Given the description of an element on the screen output the (x, y) to click on. 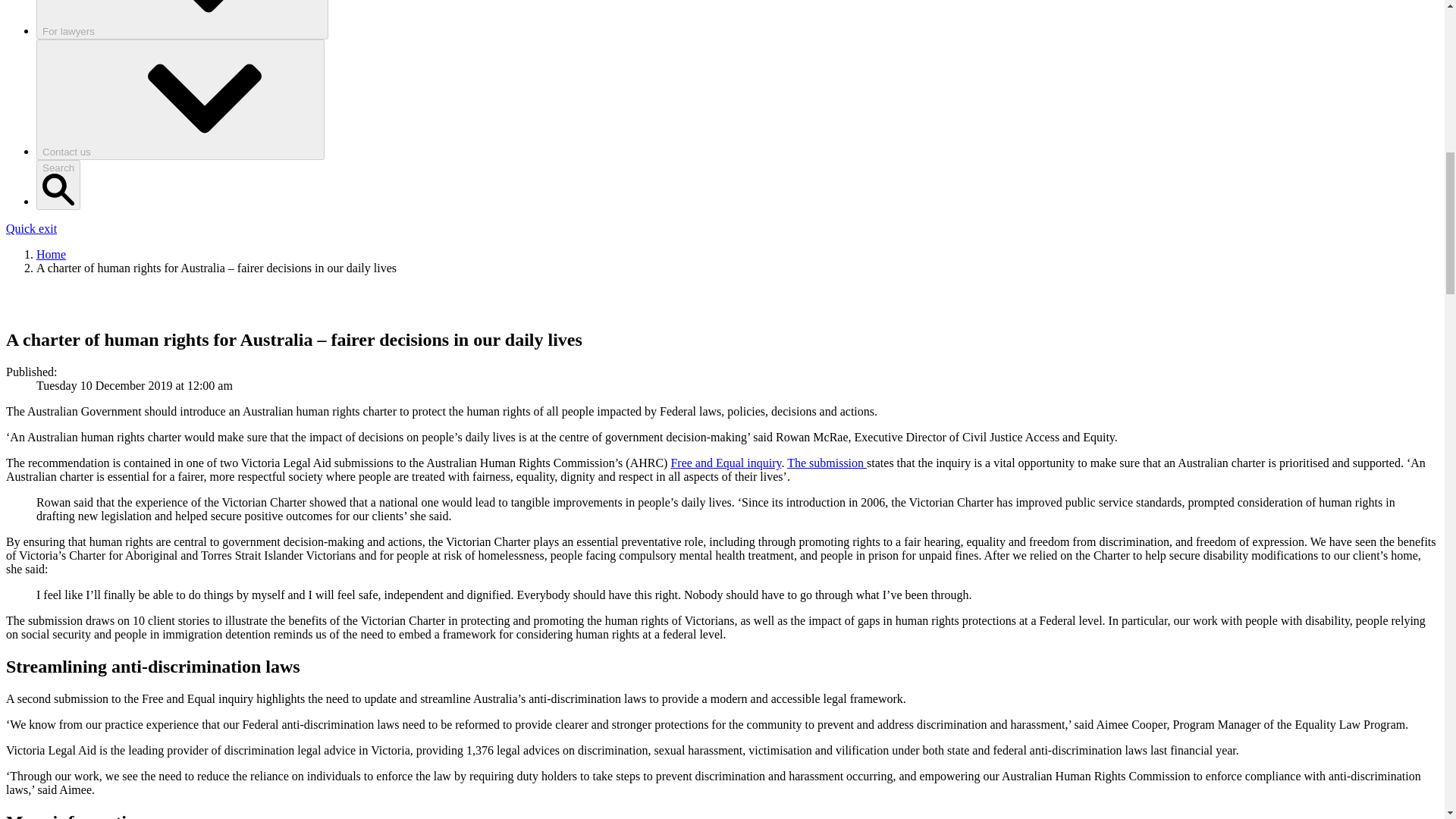
Quick exit (30, 228)
Home (50, 254)
Free and Equal inquiry (724, 462)
The submission (826, 462)
